Given the description of an element on the screen output the (x, y) to click on. 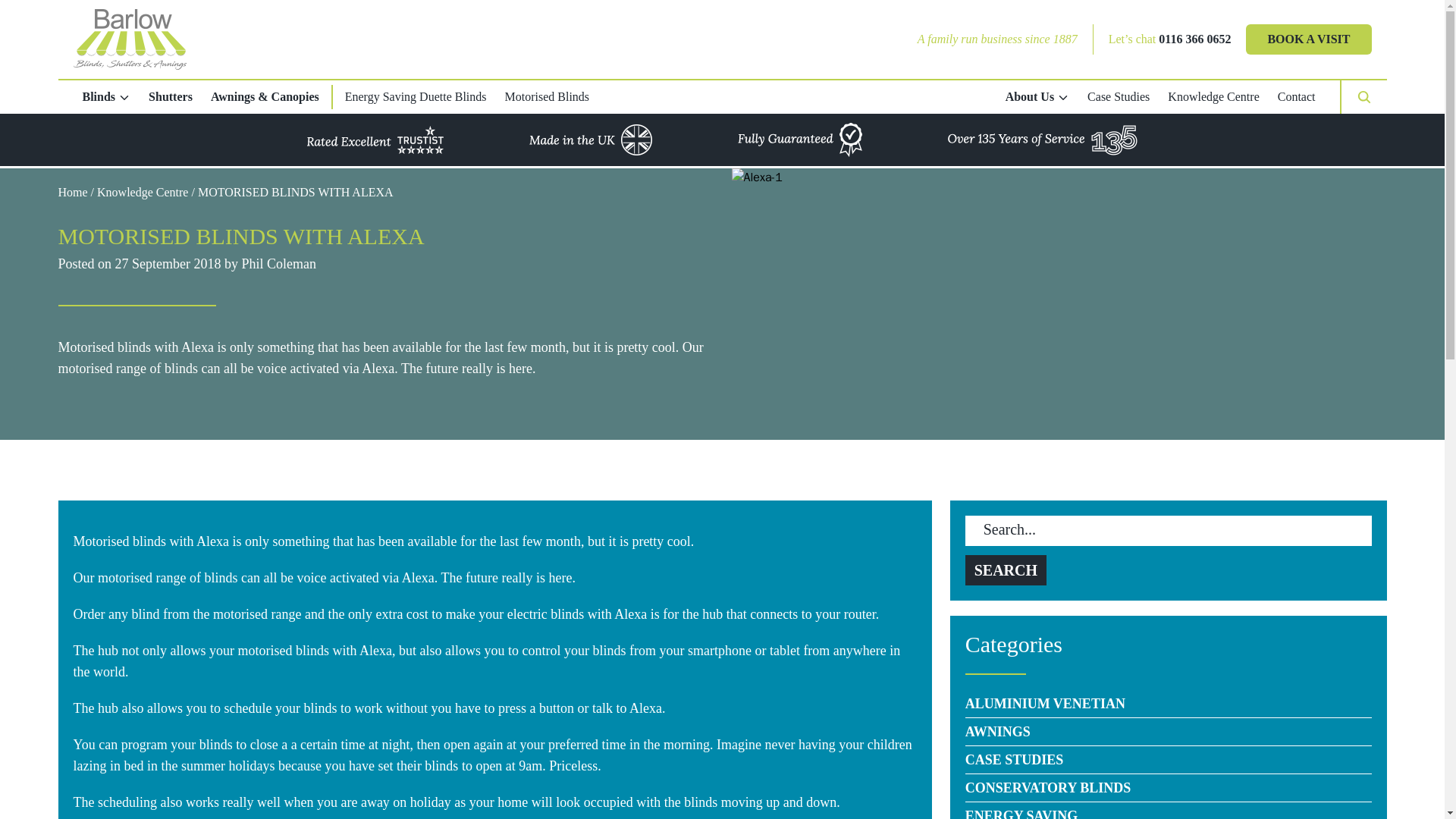
Motorised Blinds (547, 96)
About Us (1036, 96)
Blinds (105, 96)
Knowledge Centre (1213, 96)
0116 366 0652 (1194, 38)
Shutters (170, 96)
Energy Saving Duette Blinds (416, 96)
Contact (1296, 96)
BOOK A VISIT (1308, 39)
Case Studies (1118, 96)
